Given the description of an element on the screen output the (x, y) to click on. 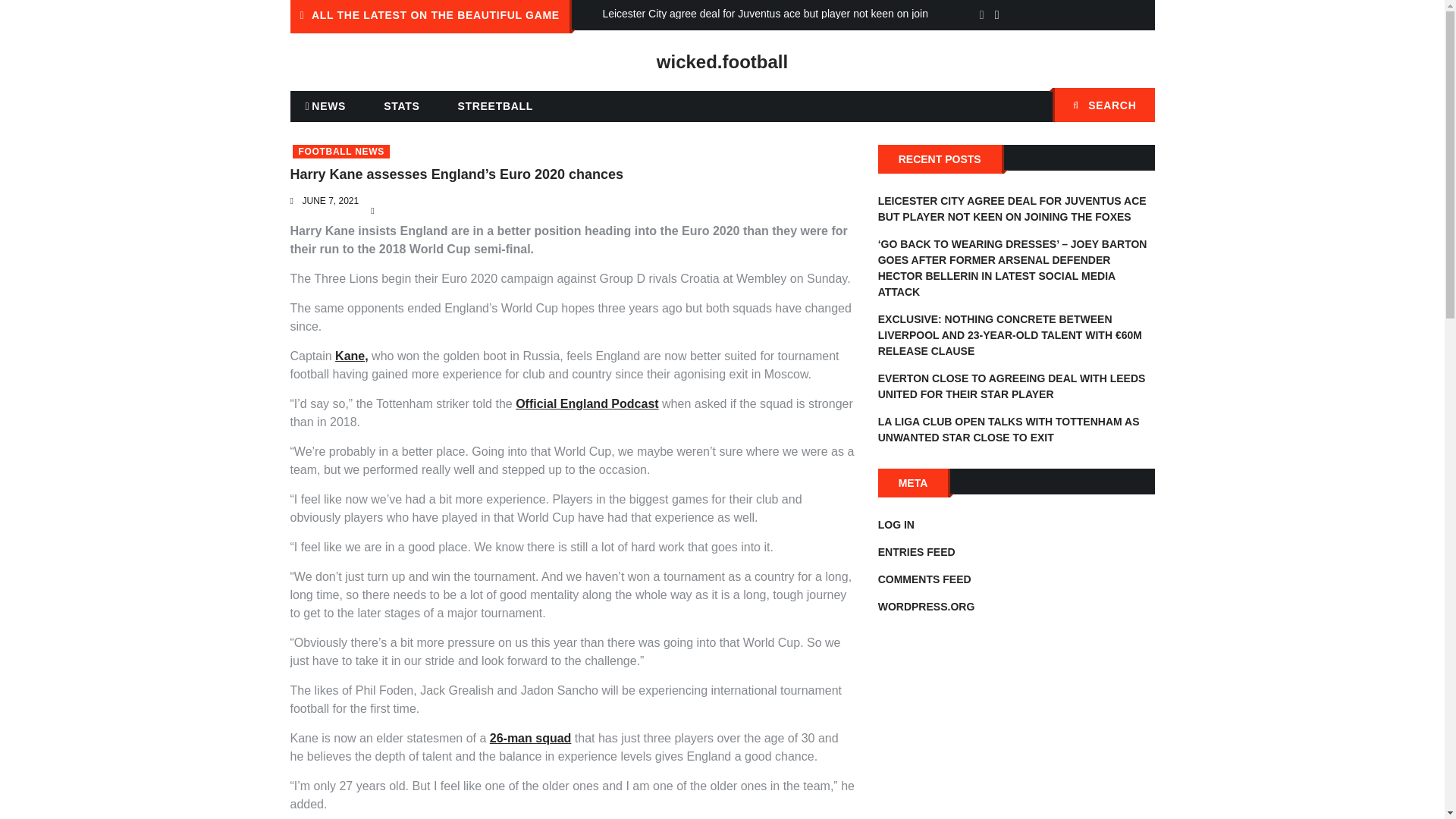
NEWS (325, 106)
26-man squad (530, 738)
Search (1135, 106)
Official England Podcast (586, 403)
wicked.football (721, 61)
SEARCH (1103, 104)
Search (1135, 106)
FOOTBALL NEWS (341, 151)
Search (1135, 106)
JUNE 7, 2021 (329, 200)
STREETBALL (495, 105)
STATS (400, 105)
Kane, (351, 355)
